Given the description of an element on the screen output the (x, y) to click on. 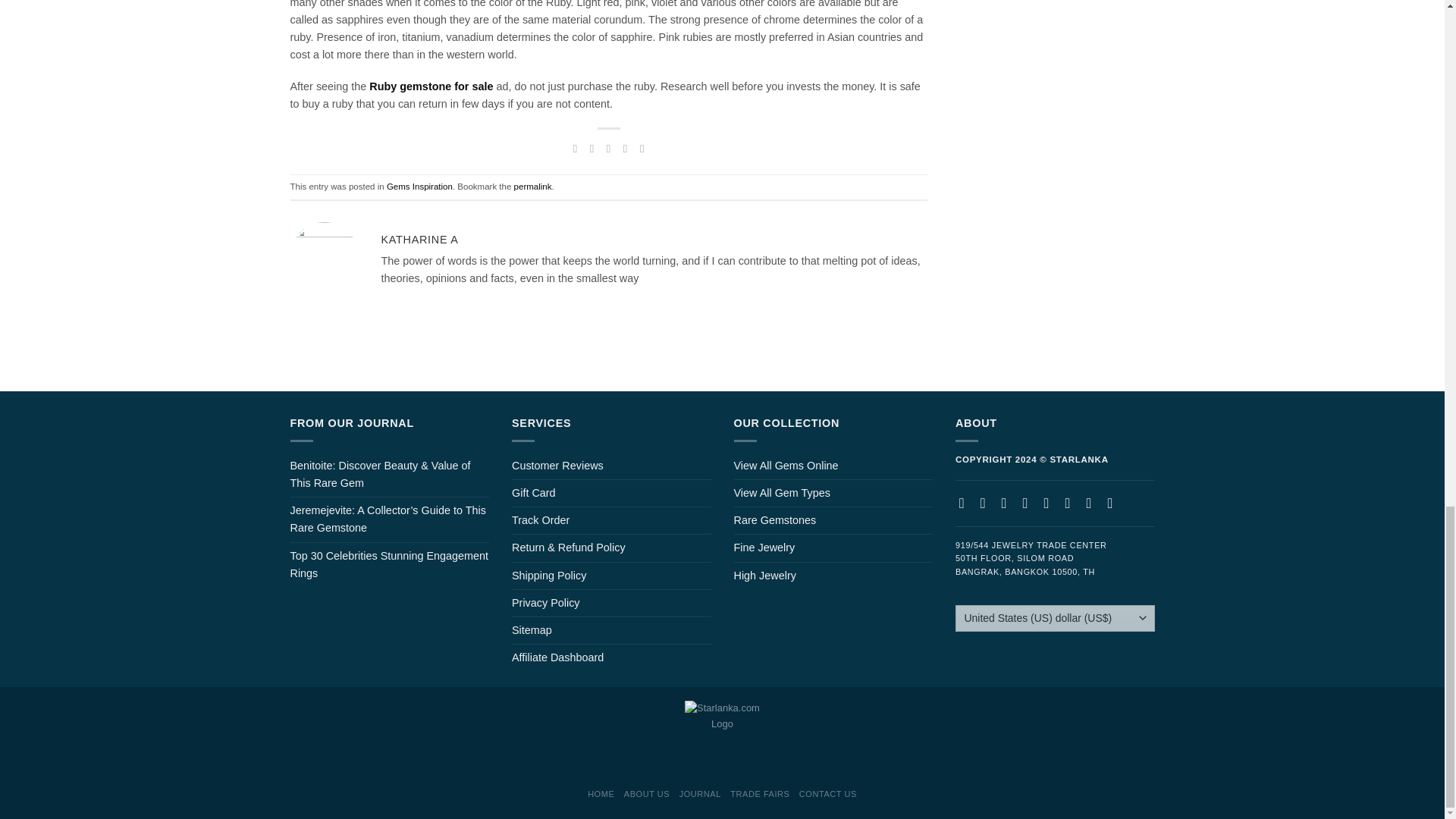
Share on Twitter (591, 148)
Share on Facebook (574, 148)
